Given the description of an element on the screen output the (x, y) to click on. 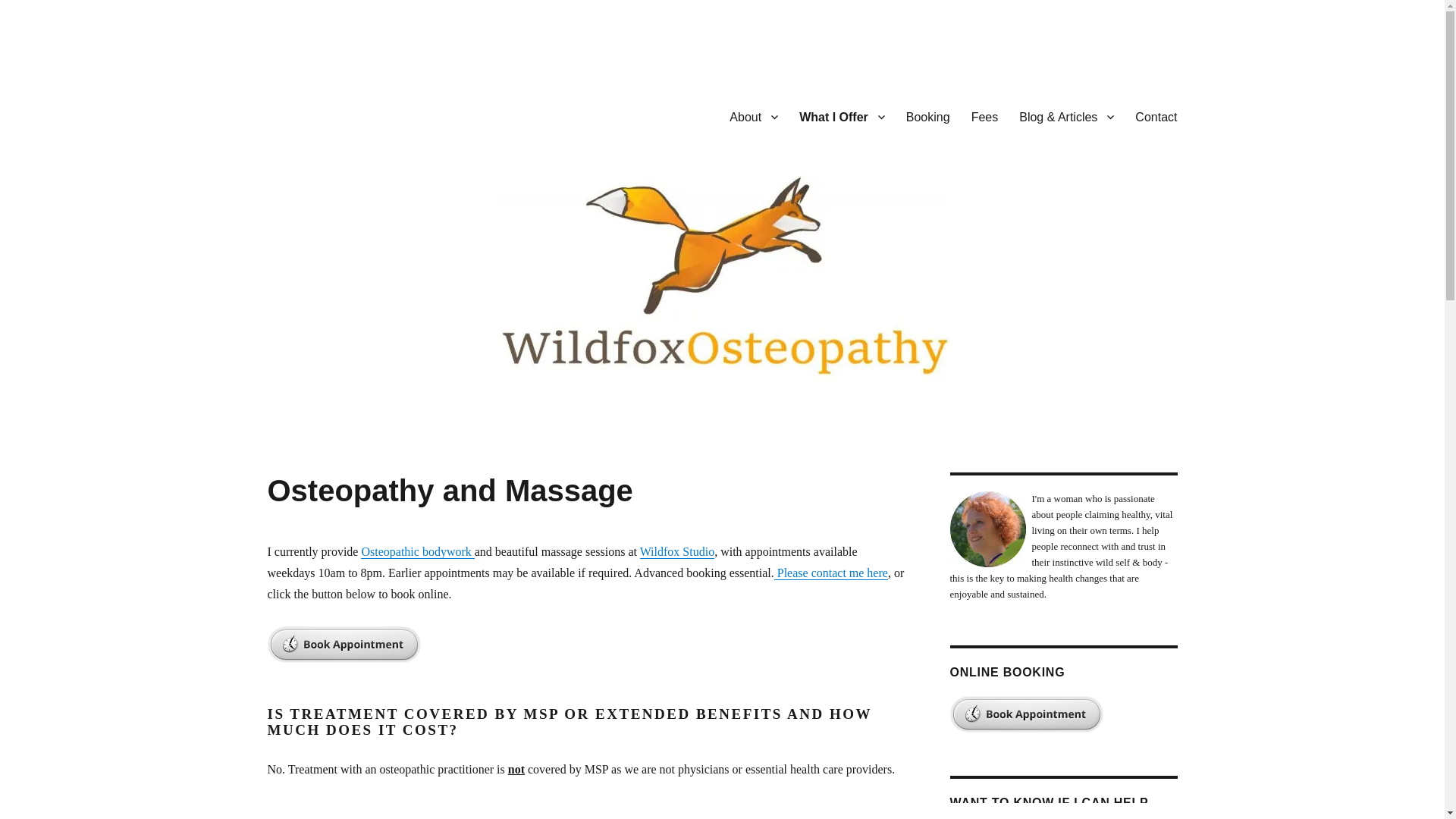
Booking (927, 116)
What I Offer (842, 116)
Fees (984, 116)
Osteopathic bodywork (417, 551)
About (754, 116)
Contact (1156, 116)
Please contact me here (831, 572)
Wildfox Studio (677, 551)
Wildfox Osteopathy (365, 114)
